Given the description of an element on the screen output the (x, y) to click on. 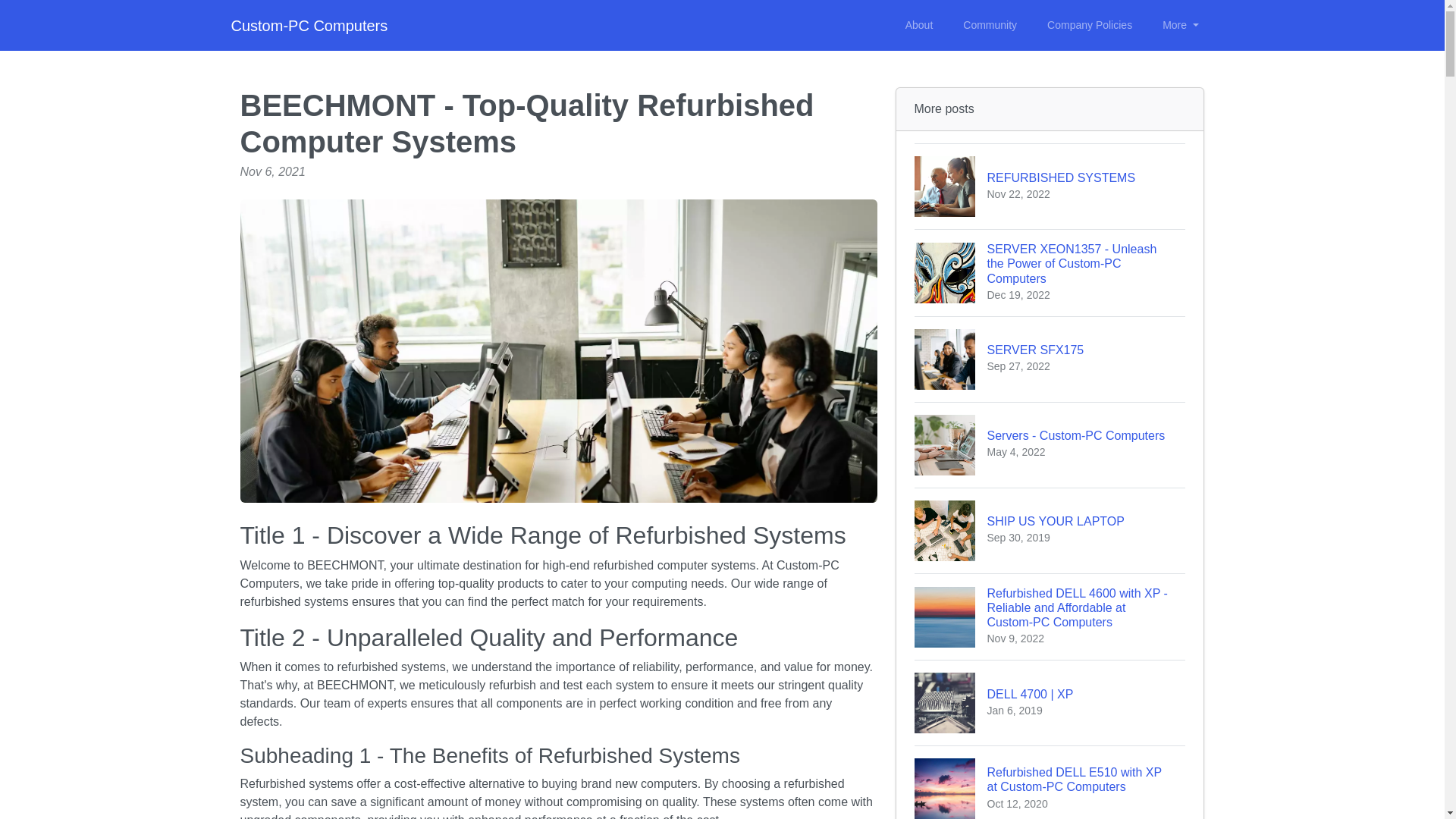
More (1050, 444)
Community (1180, 25)
About (989, 25)
Custom-PC Computers (919, 25)
Company Policies (1050, 359)
